Given the description of an element on the screen output the (x, y) to click on. 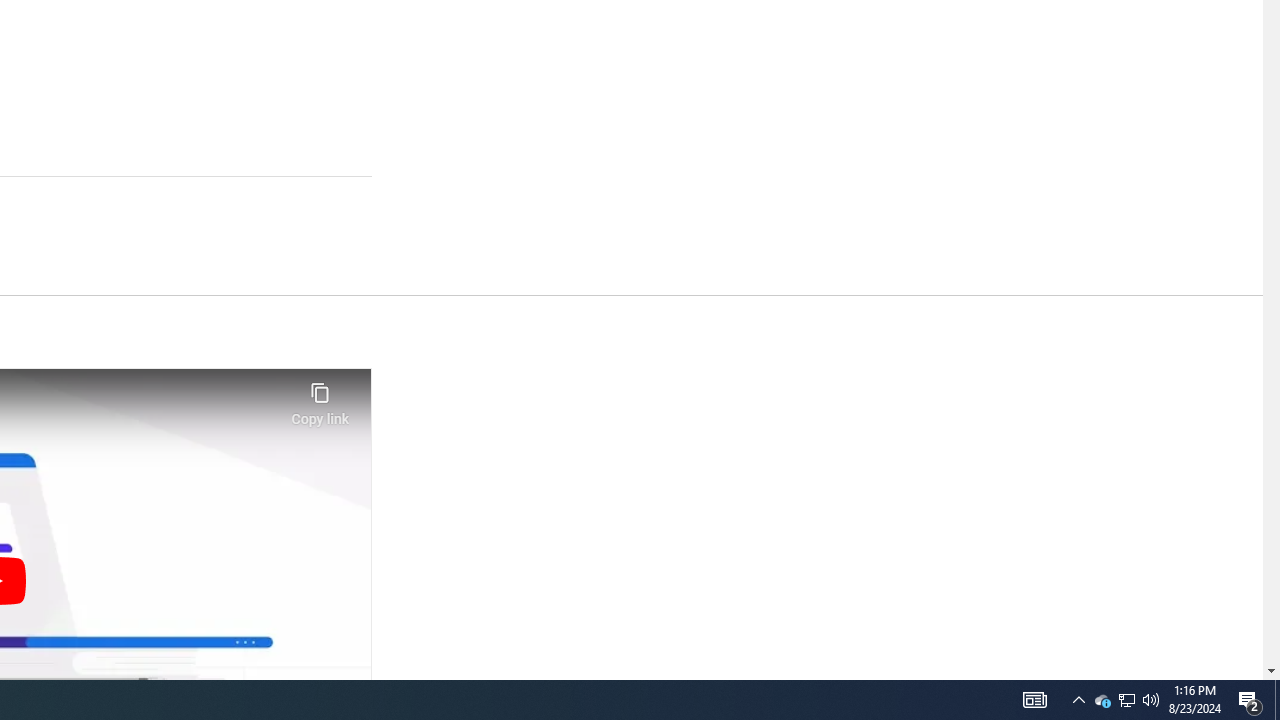
Copy link (319, 398)
